Given the description of an element on the screen output the (x, y) to click on. 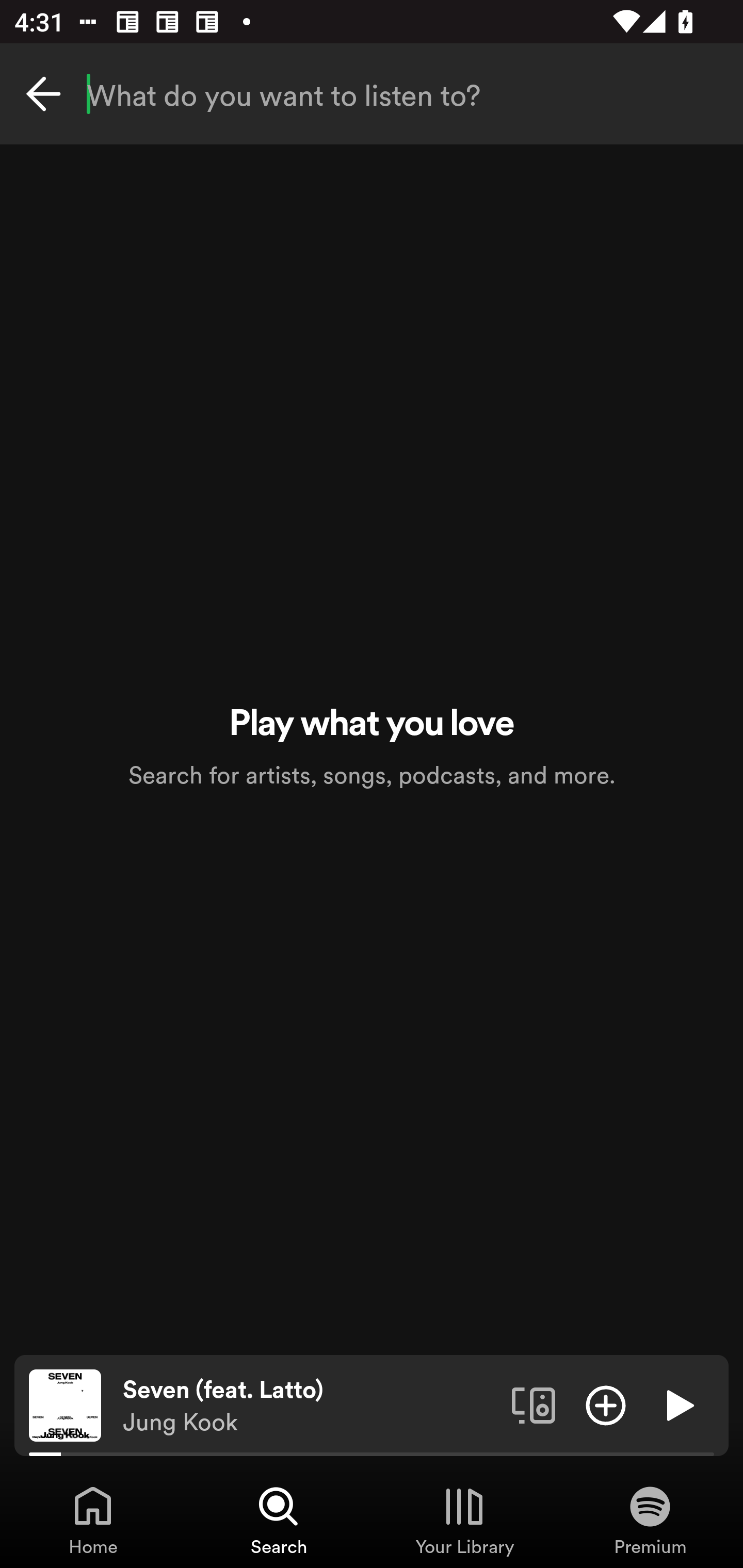
What do you want to listen to? (371, 93)
Cancel (43, 93)
Seven (feat. Latto) Jung Kook (309, 1405)
The cover art of the currently playing track (64, 1404)
Connect to a device. Opens the devices menu (533, 1404)
Add item (605, 1404)
Play (677, 1404)
Home, Tab 1 of 4 Home Home (92, 1519)
Search, Tab 2 of 4 Search Search (278, 1519)
Your Library, Tab 3 of 4 Your Library Your Library (464, 1519)
Premium, Tab 4 of 4 Premium Premium (650, 1519)
